Given the description of an element on the screen output the (x, y) to click on. 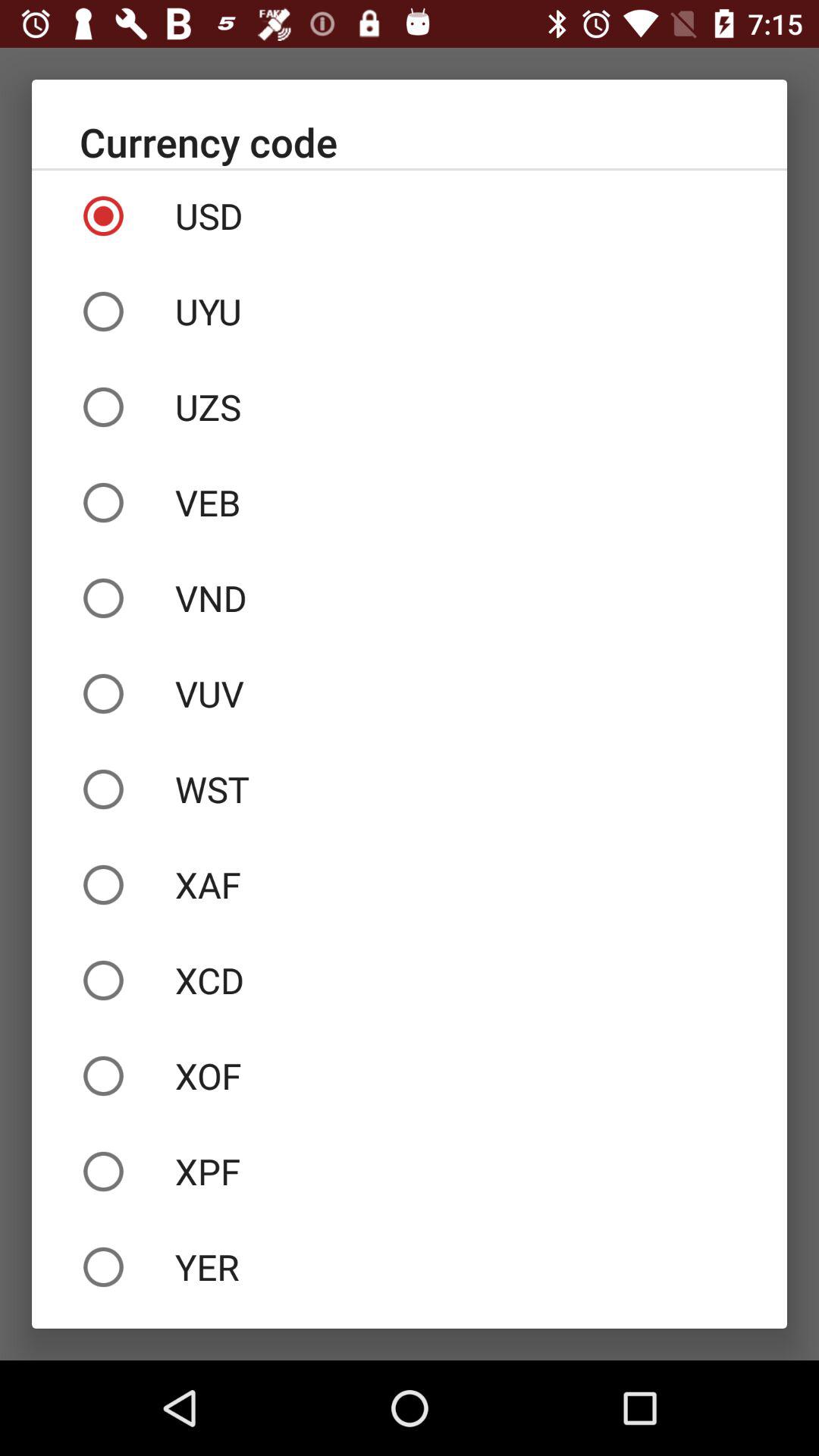
turn off the icon above xof icon (409, 980)
